Given the description of an element on the screen output the (x, y) to click on. 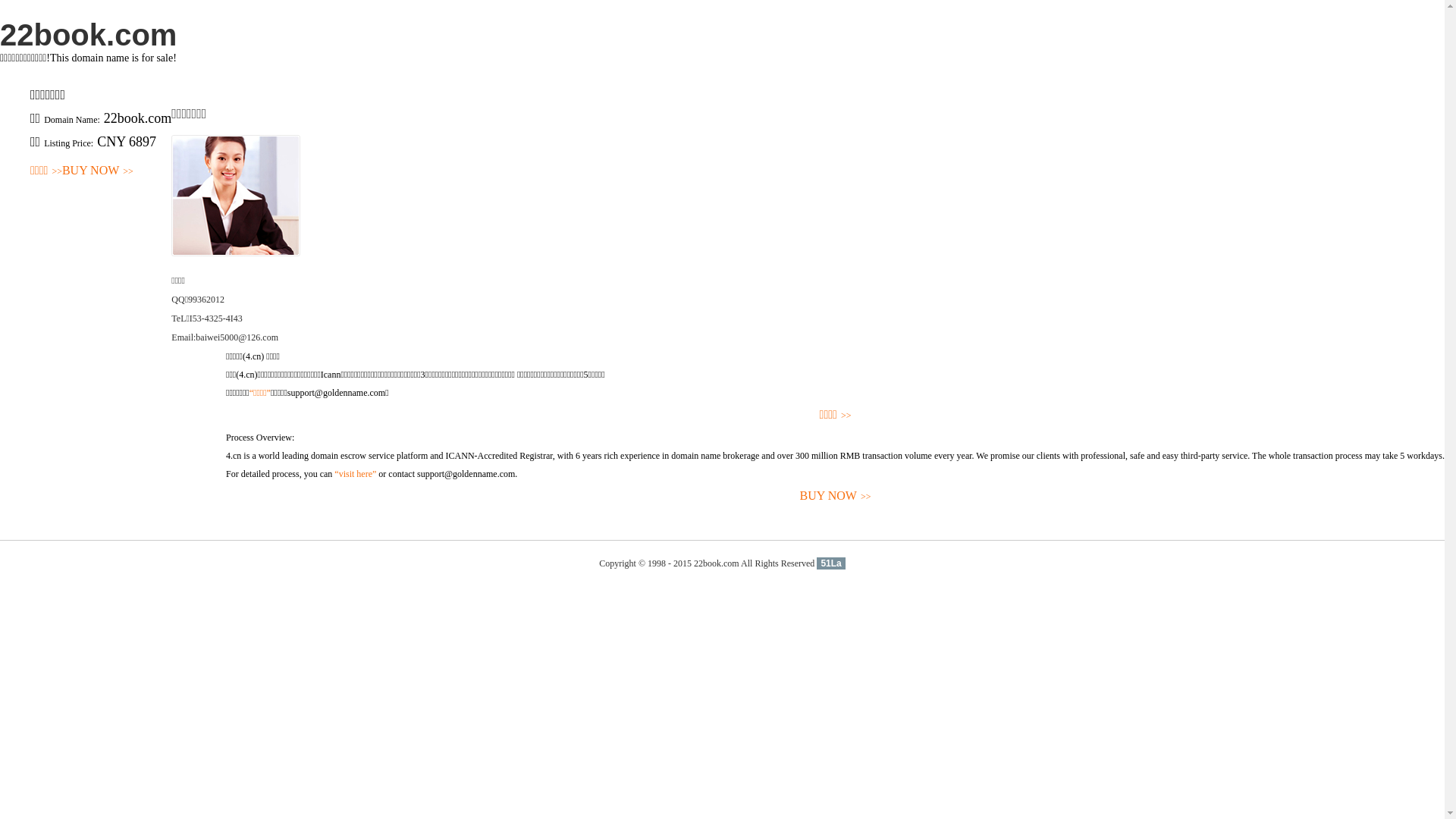
51La Element type: text (830, 563)
BUY NOW>> Element type: text (97, 170)
BUY NOW>> Element type: text (834, 496)
